Given the description of an element on the screen output the (x, y) to click on. 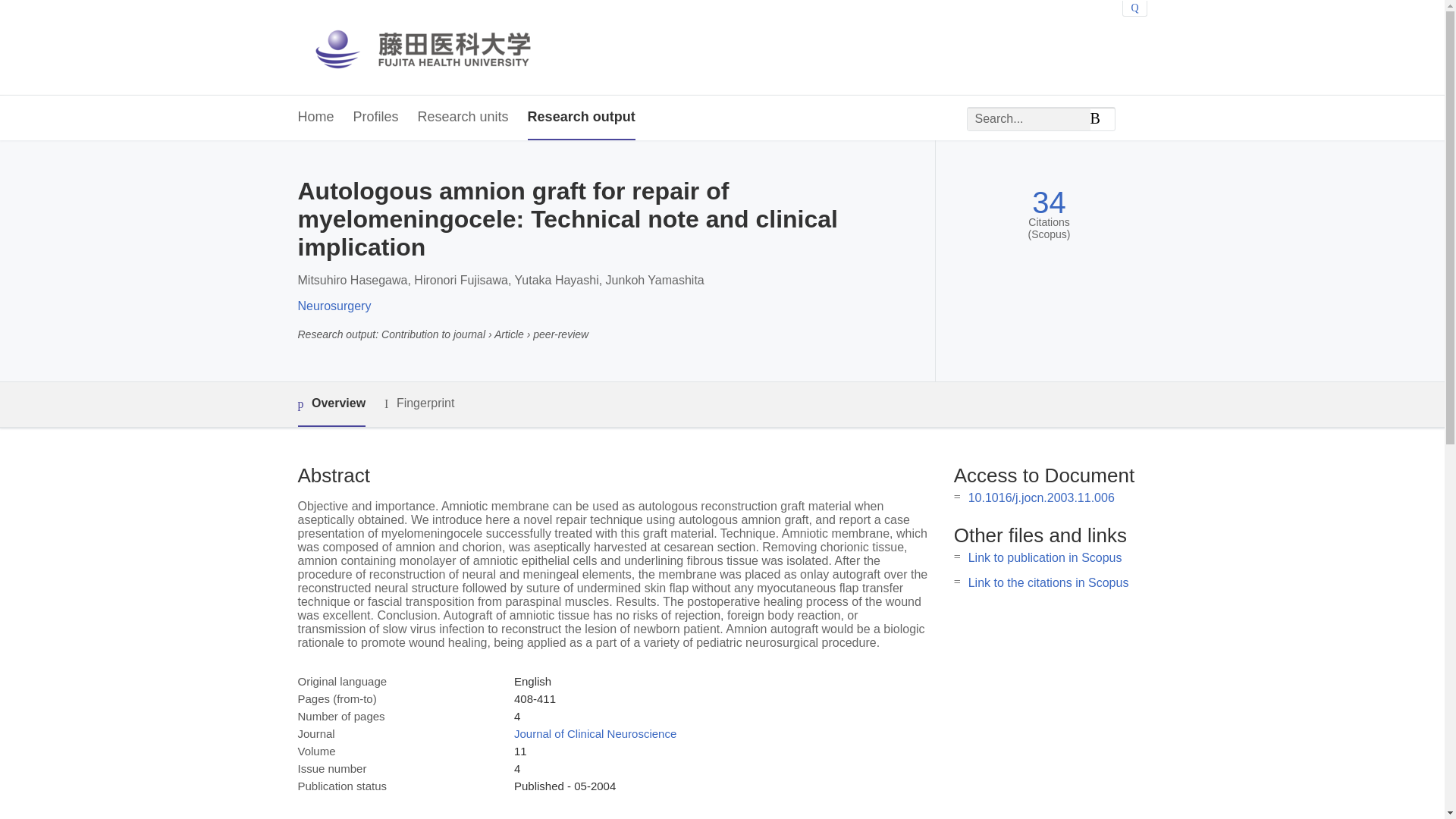
Research output (580, 117)
Fingerprint (419, 403)
Neurosurgery (334, 305)
Journal of Clinical Neuroscience (595, 733)
Link to the citations in Scopus (1048, 582)
Fujita Health University Home (437, 47)
34 (1048, 202)
Link to publication in Scopus (1045, 557)
Overview (331, 404)
Profiles (375, 117)
Research units (462, 117)
